Given the description of an element on the screen output the (x, y) to click on. 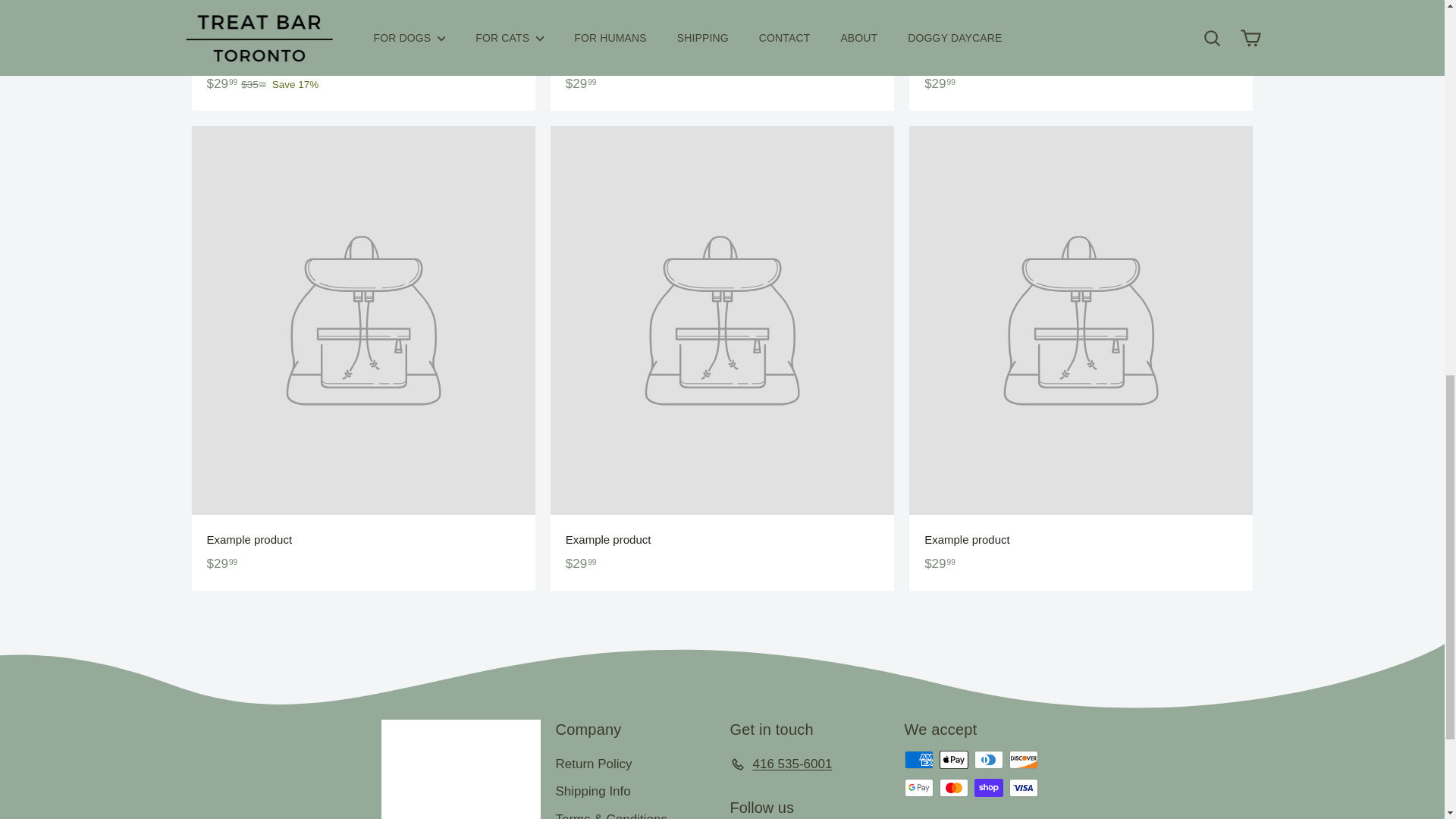
Shop Pay (988, 787)
Diners Club (988, 760)
Mastercard (953, 787)
American Express (918, 760)
Apple Pay (953, 760)
Google Pay (918, 787)
Discover (1022, 760)
